Given the description of an element on the screen output the (x, y) to click on. 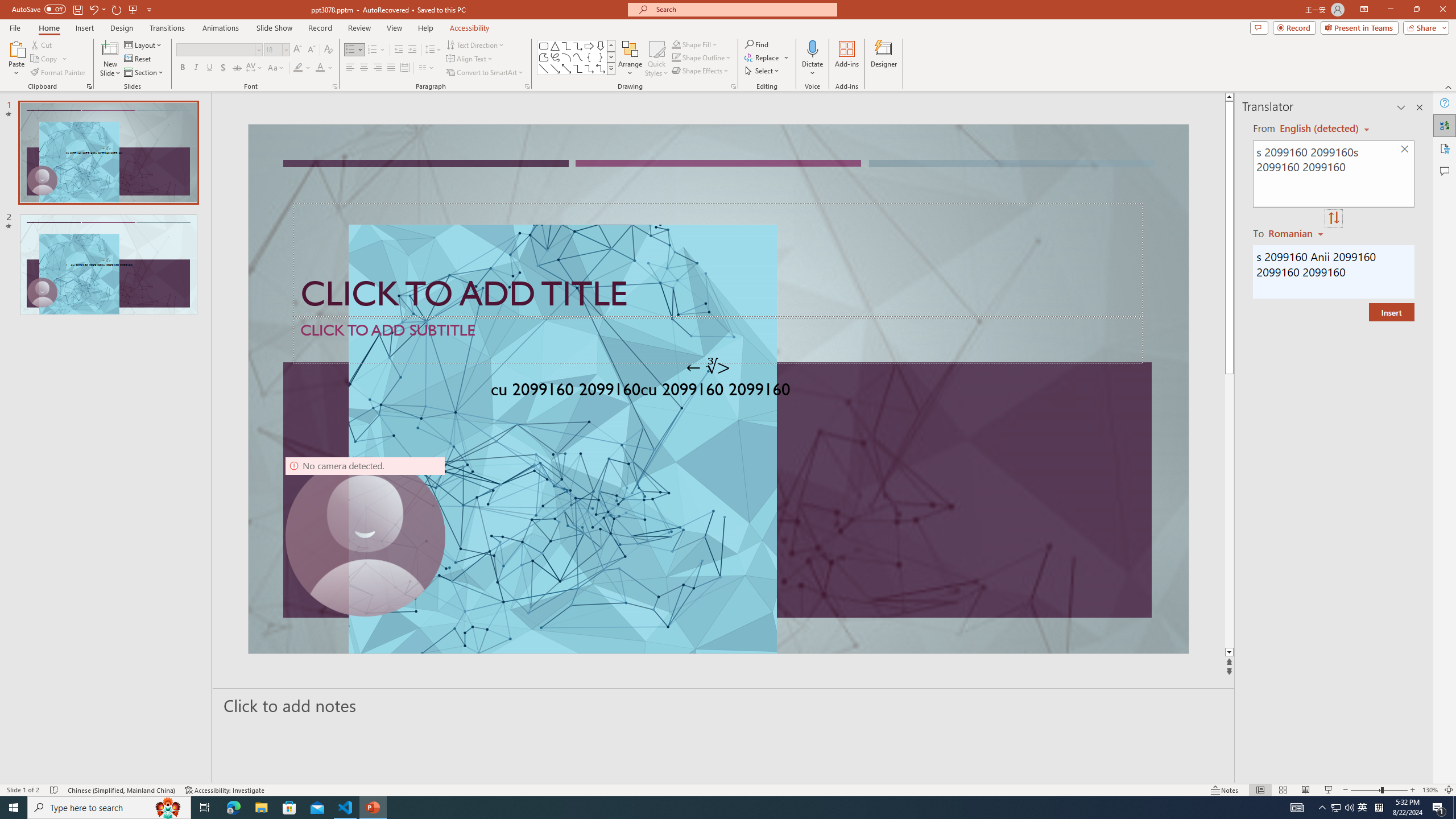
Line Arrow: Double (566, 68)
